Given the description of an element on the screen output the (x, y) to click on. 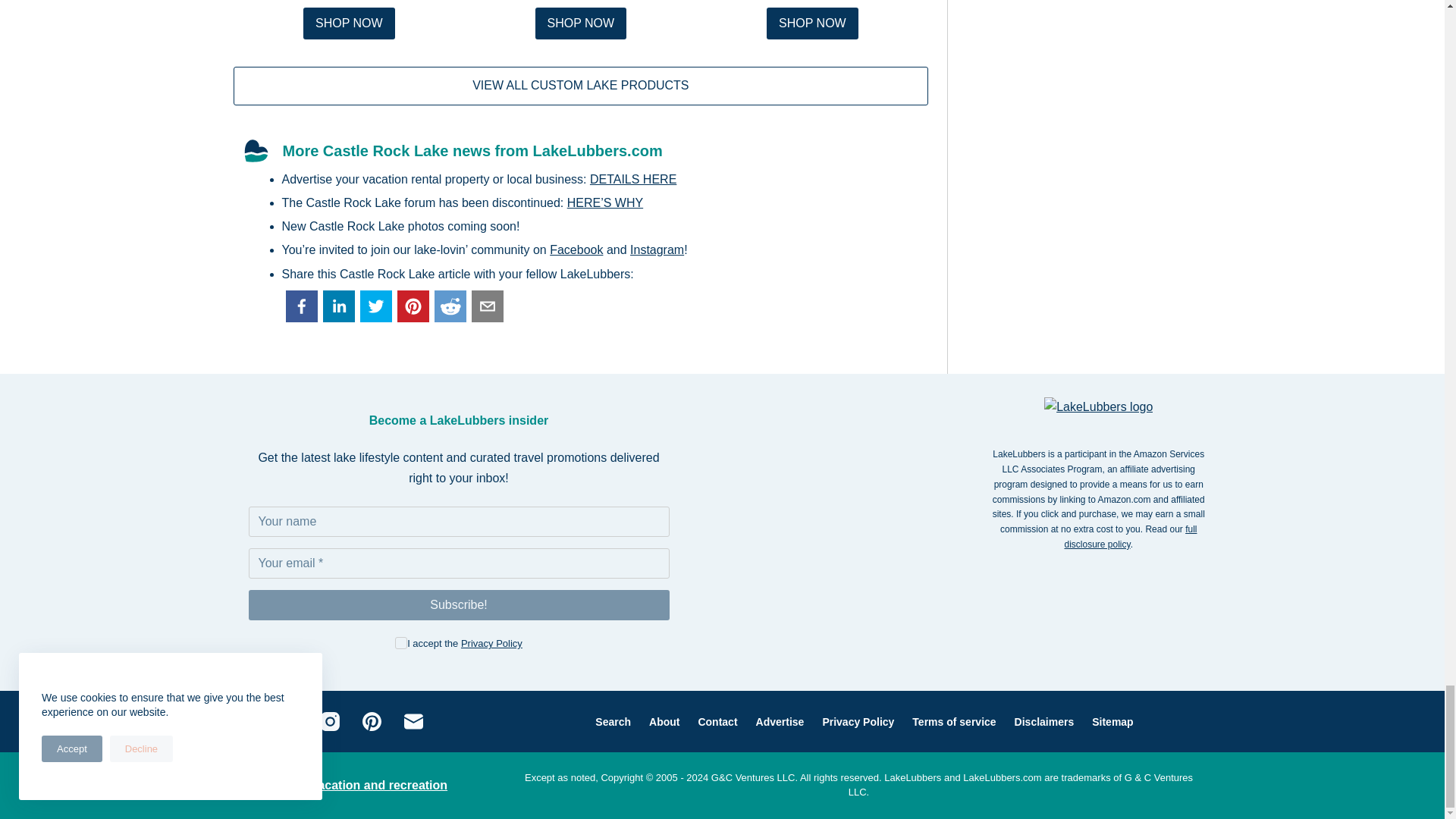
Custom Lake Coffee Mug - On Lake Time (813, 23)
Email (458, 562)
on (400, 643)
Custom Lake Products (580, 85)
Custom Lake Shirt - My Boat My Rules (581, 23)
Name (458, 521)
Custom Lake Tumbler - Captain or First Mate (348, 23)
